Given the description of an element on the screen output the (x, y) to click on. 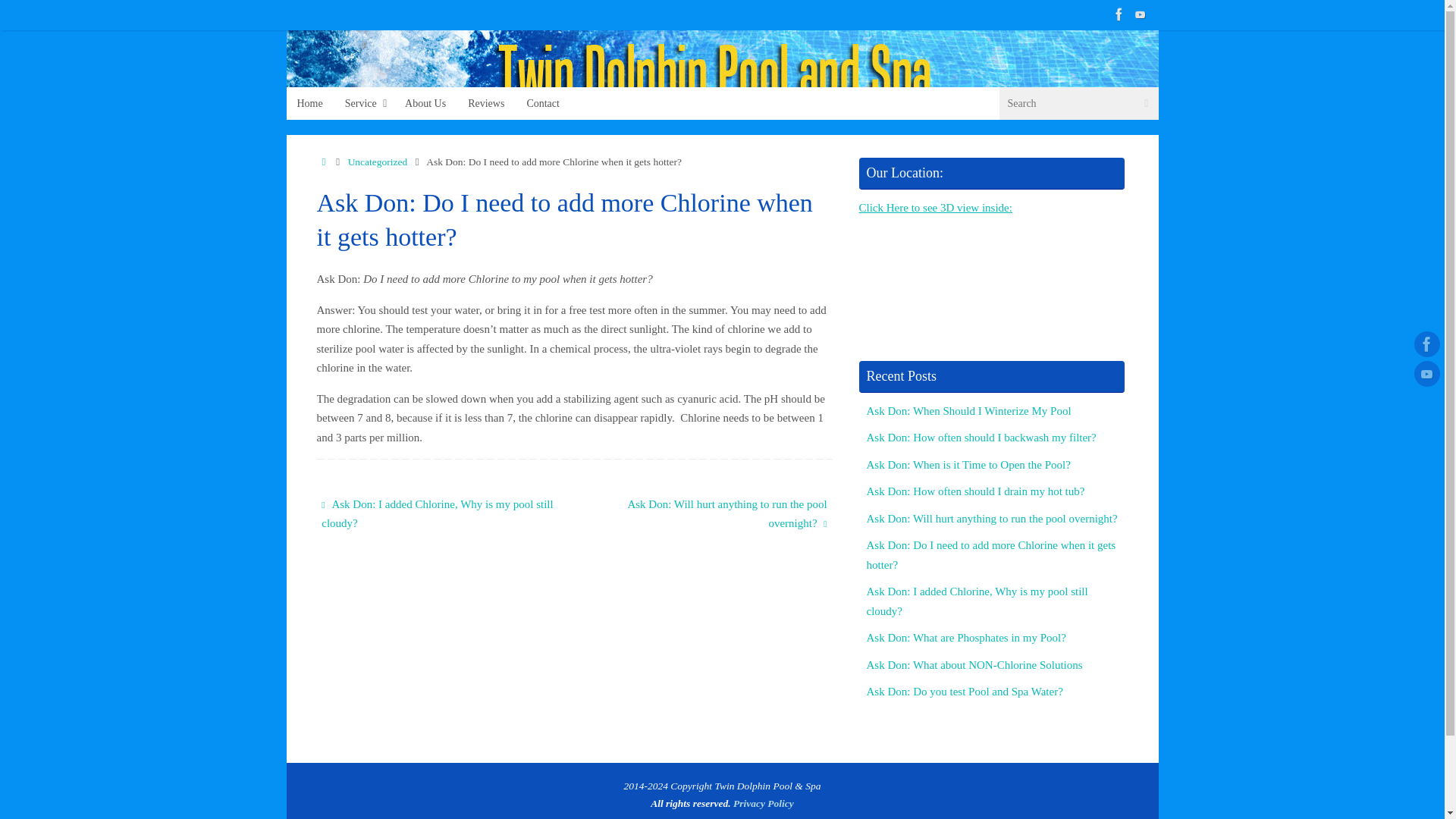
Privacy Policy (763, 803)
YouTube (1140, 14)
Home (310, 102)
Twin Dolphin Pool and Spa (722, 75)
Facebook (1118, 14)
Uncategorized (377, 161)
Ask Don: I added Chlorine, Why is my pool still cloudy? (976, 601)
Home (324, 161)
Ask Don: When Should I Winterize My Pool (968, 410)
About Us (425, 102)
